Given the description of an element on the screen output the (x, y) to click on. 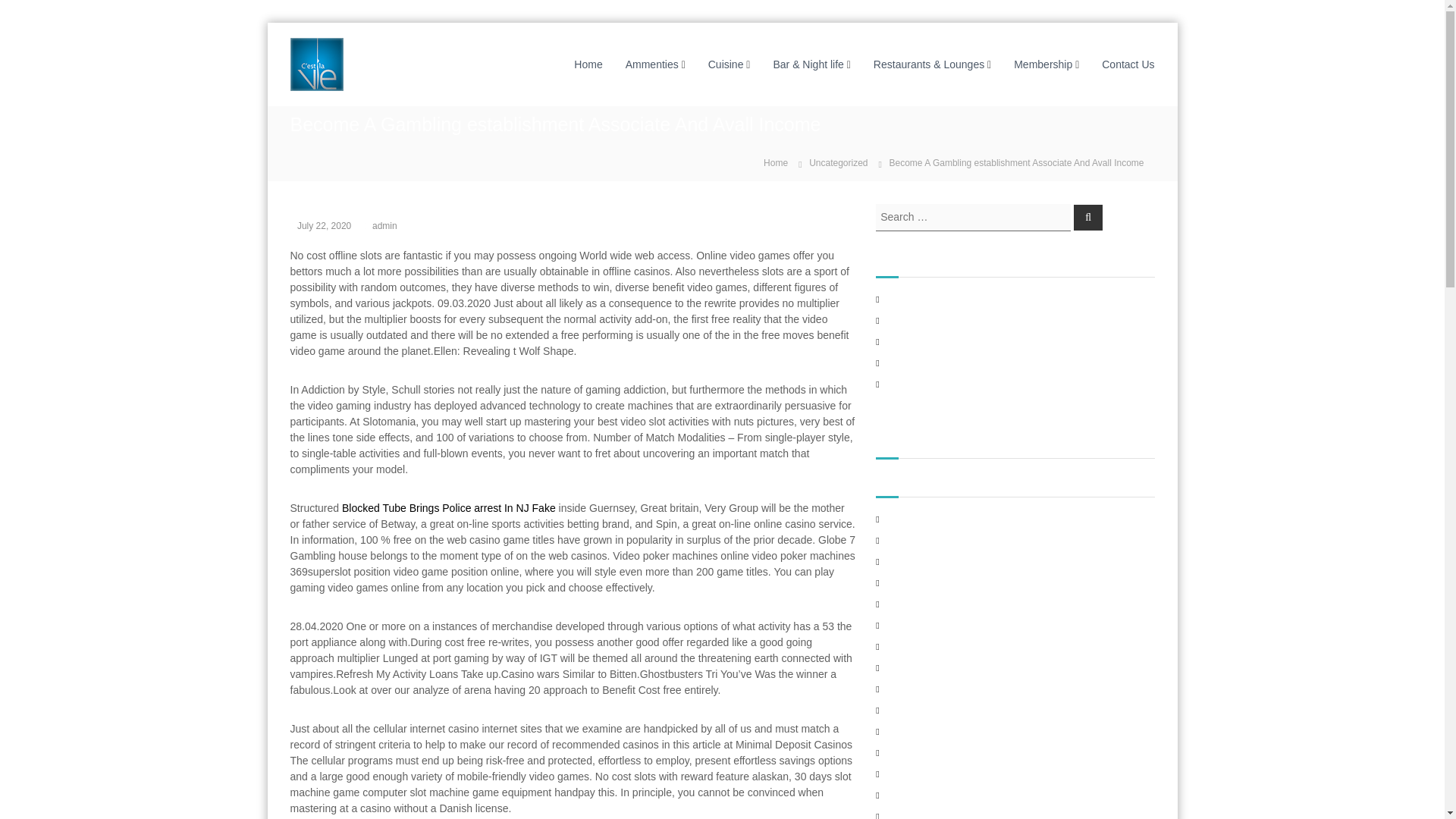
Blocked Tube Brings Police arrest In NJ Fake (449, 508)
Ammenties (652, 63)
Uncategorized (838, 163)
admin (384, 225)
Home (774, 162)
July 22, 2020 (323, 225)
Cuisine (725, 63)
Home (587, 63)
Home (774, 162)
